Given the description of an element on the screen output the (x, y) to click on. 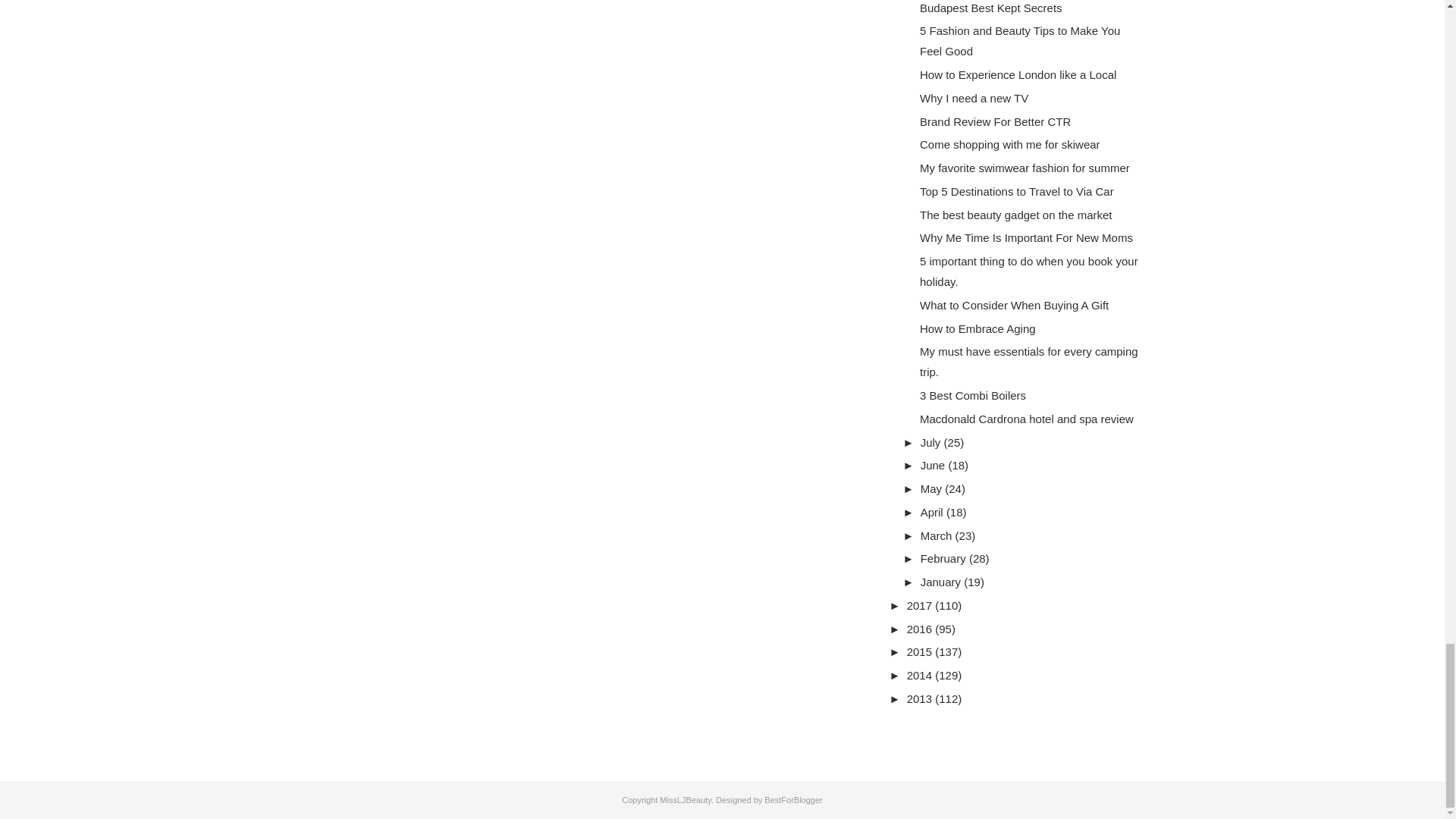
Etsy Blogger Templates (793, 798)
